Given the description of an element on the screen output the (x, y) to click on. 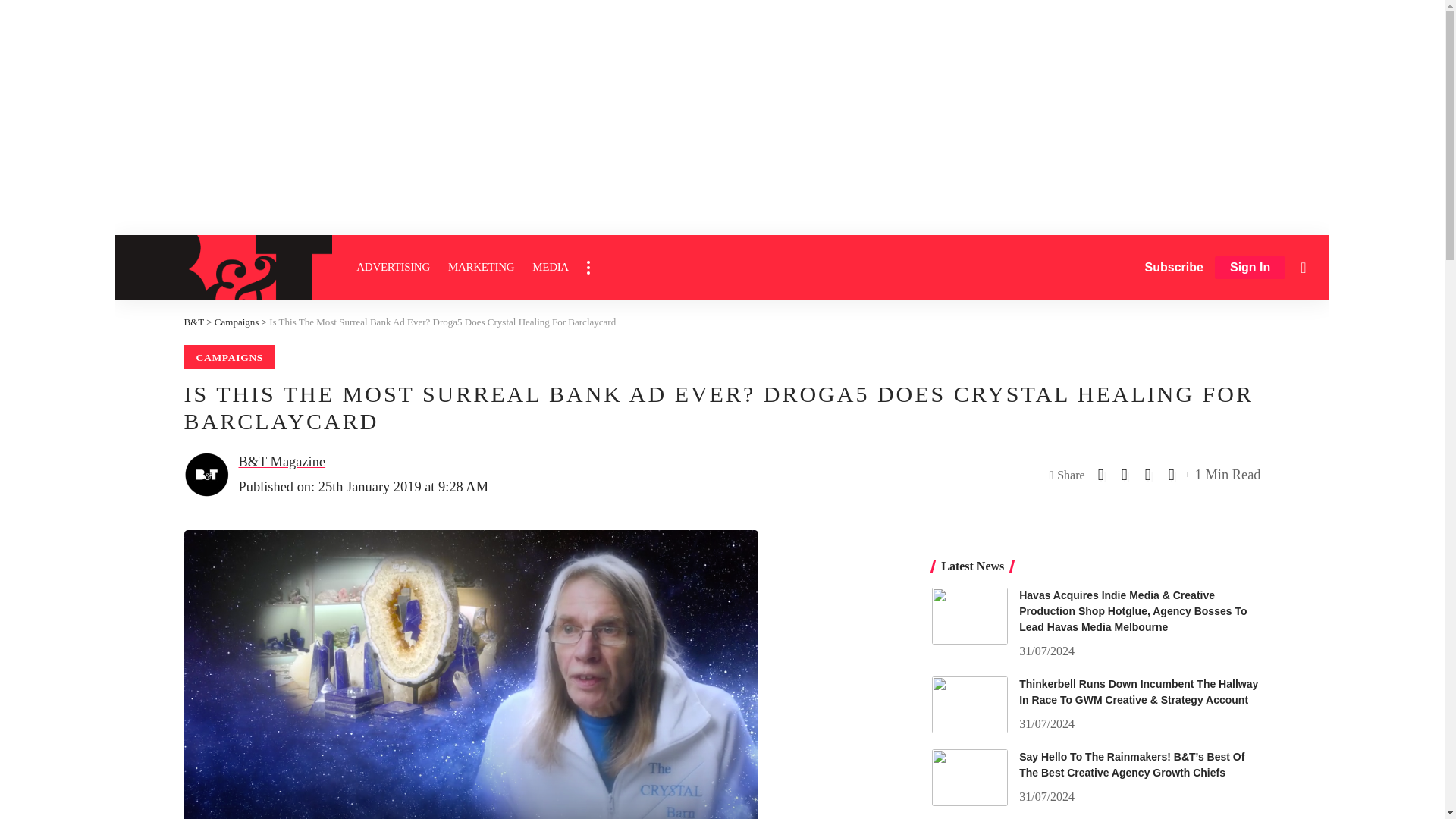
Go to the Campaigns Category archives. (236, 321)
Sign In (1249, 267)
MARKETING (480, 267)
ADVERTISING (393, 267)
Subscribe (1174, 267)
